Given the description of an element on the screen output the (x, y) to click on. 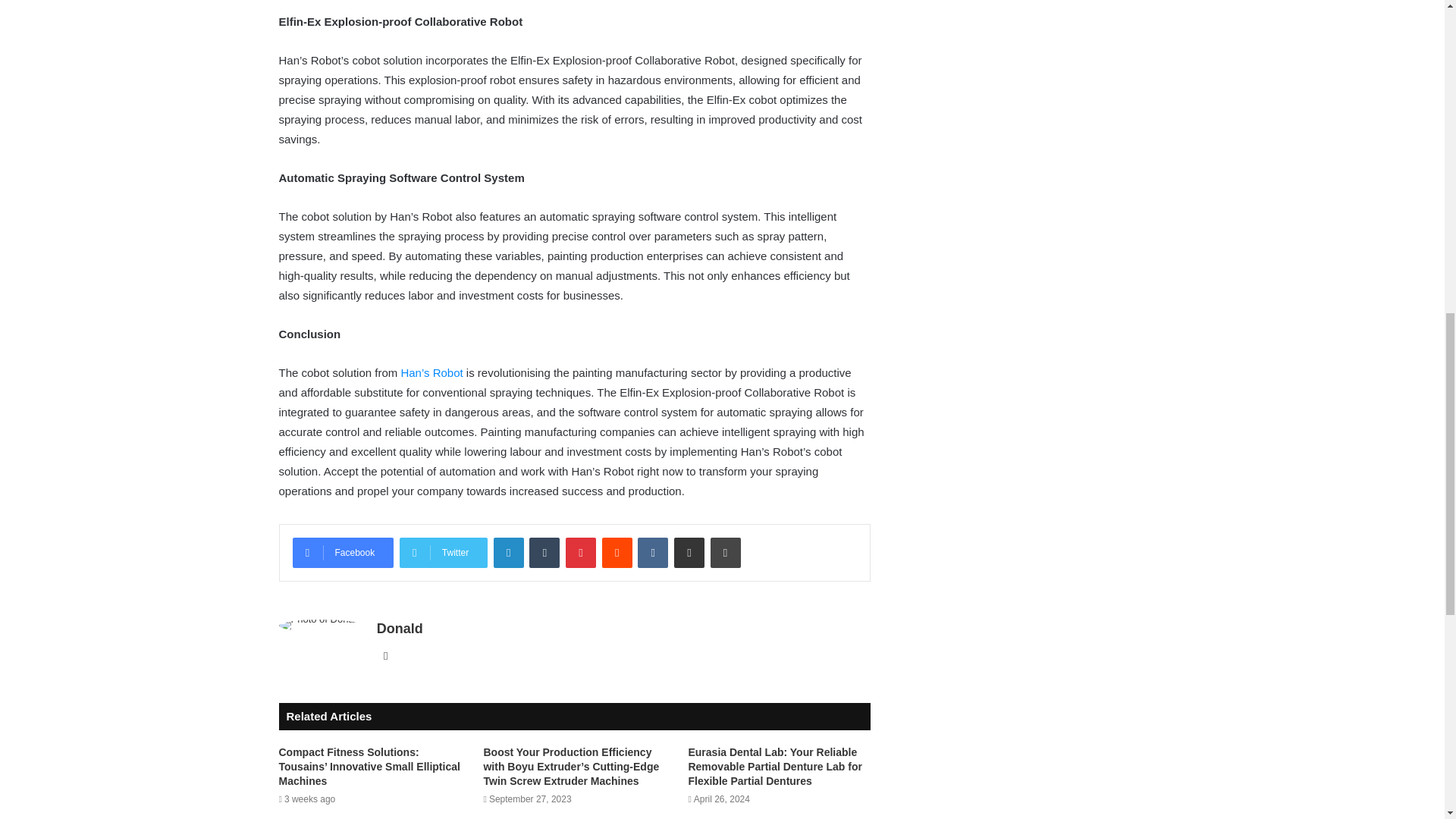
Pinterest (580, 552)
VKontakte (652, 552)
Facebook (343, 552)
Facebook (343, 552)
Reddit (616, 552)
LinkedIn (508, 552)
Share via Email (689, 552)
VKontakte (652, 552)
Share via Email (689, 552)
Pinterest (580, 552)
Print (725, 552)
Website (385, 656)
Tumblr (544, 552)
Reddit (616, 552)
